Given the description of an element on the screen output the (x, y) to click on. 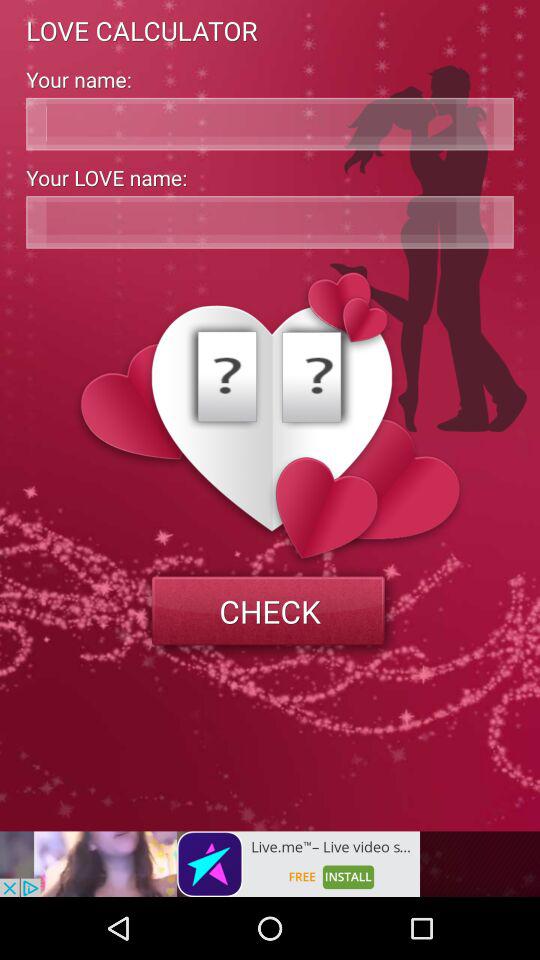
text box (269, 123)
